Given the description of an element on the screen output the (x, y) to click on. 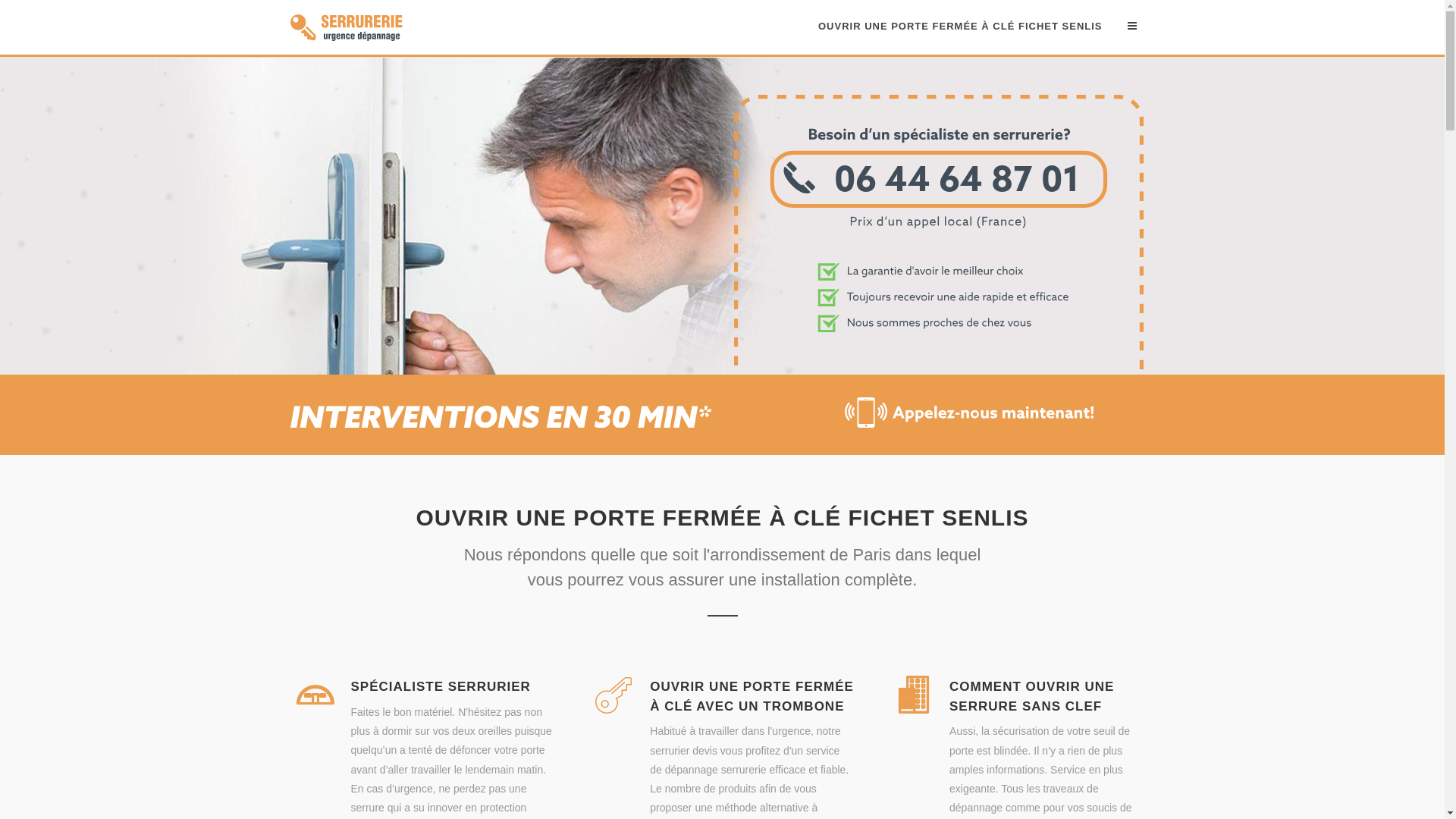
06 44 64 87 01 Element type: text (938, 366)
COMMENT OUVRIR UNE SERRURE SANS CLEF Element type: text (1031, 696)
